Given the description of an element on the screen output the (x, y) to click on. 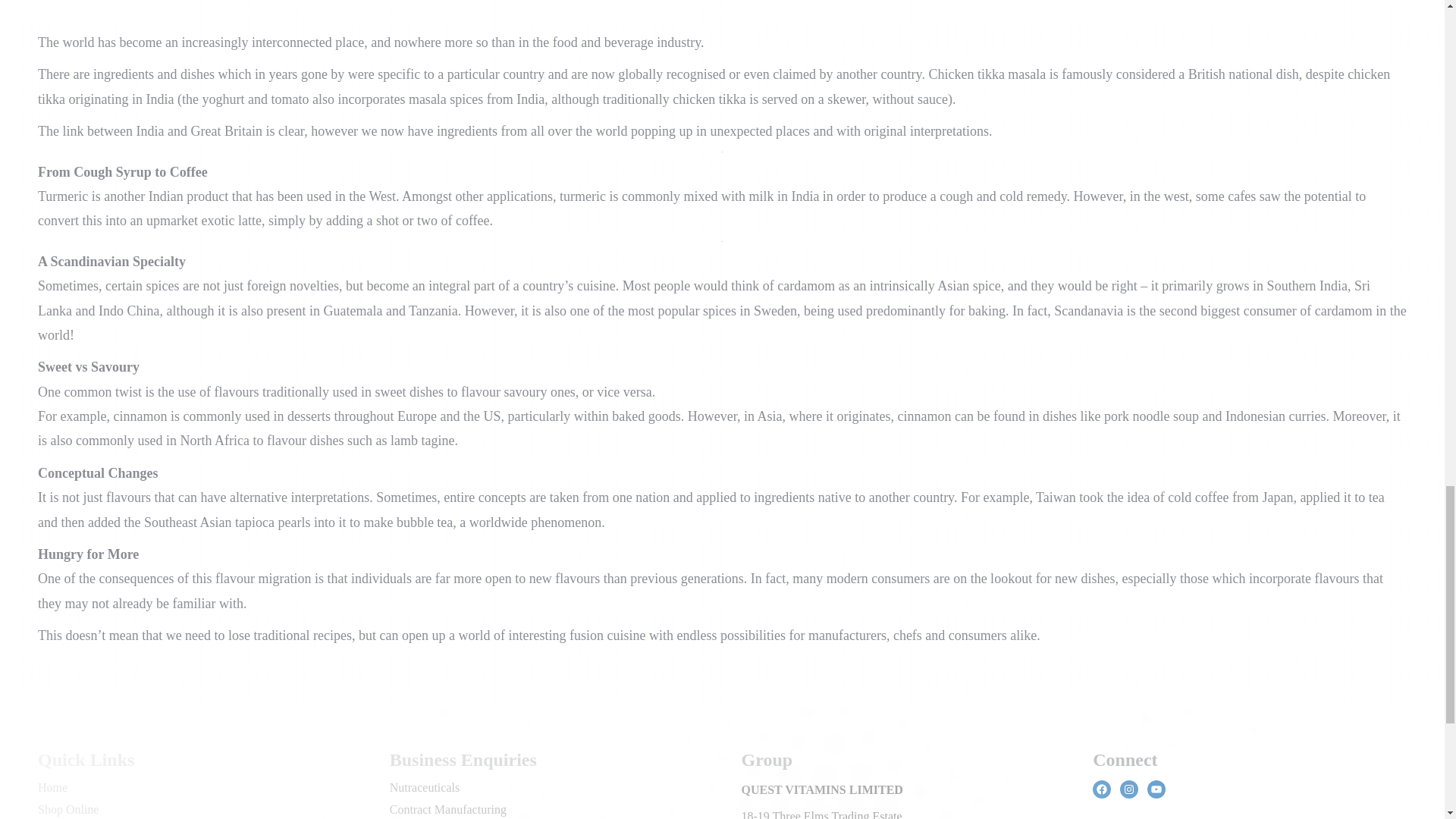
Home (51, 787)
Shop Online (68, 809)
Nutraceuticals (425, 787)
Contract Manufacturing (448, 809)
